Given the description of an element on the screen output the (x, y) to click on. 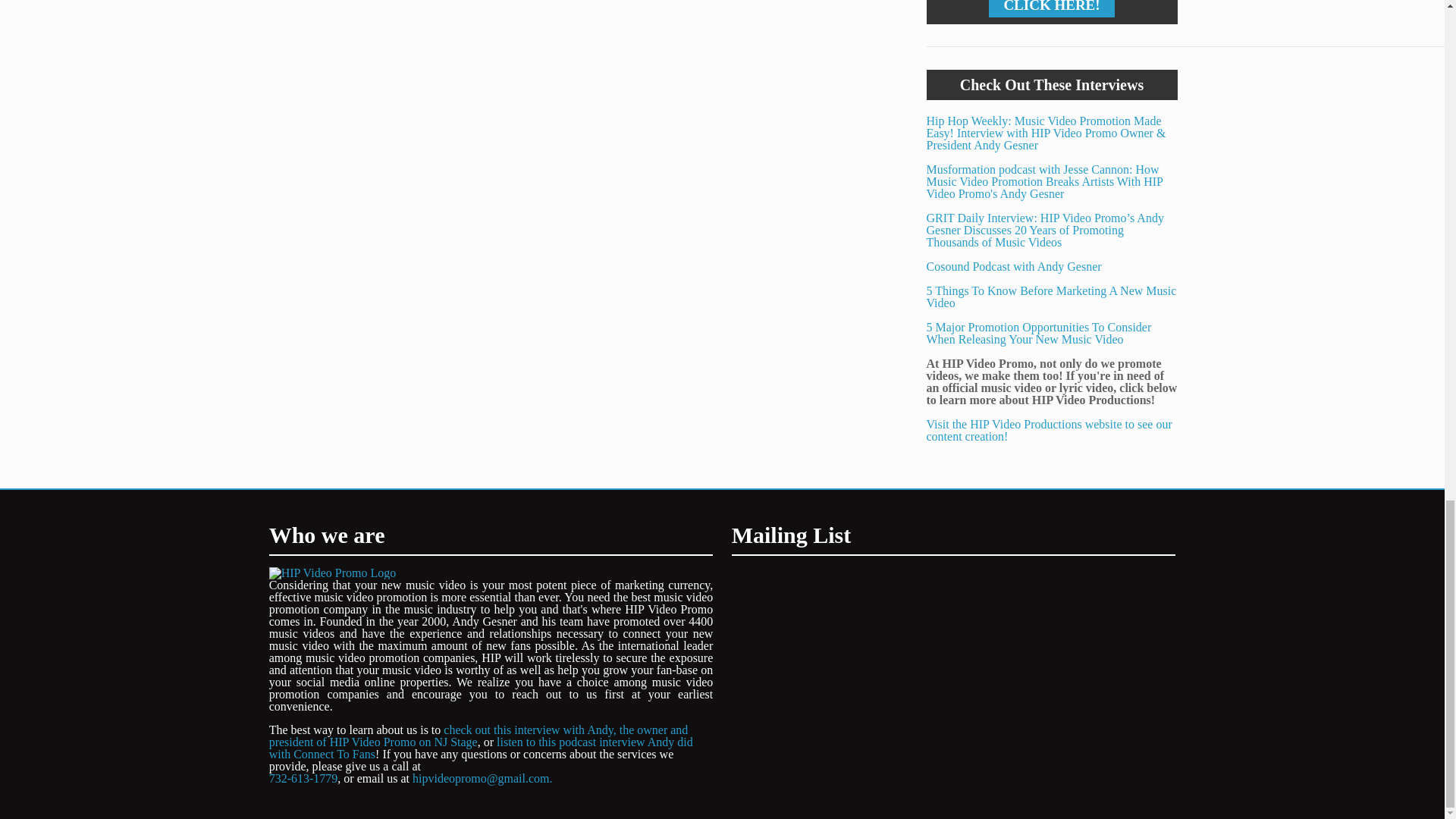
CLICK HERE! (1051, 6)
Cosound Podcast with Andy Gesner (1014, 266)
5 Things To Know Before Marketing A New Music Video (1051, 302)
